Given the description of an element on the screen output the (x, y) to click on. 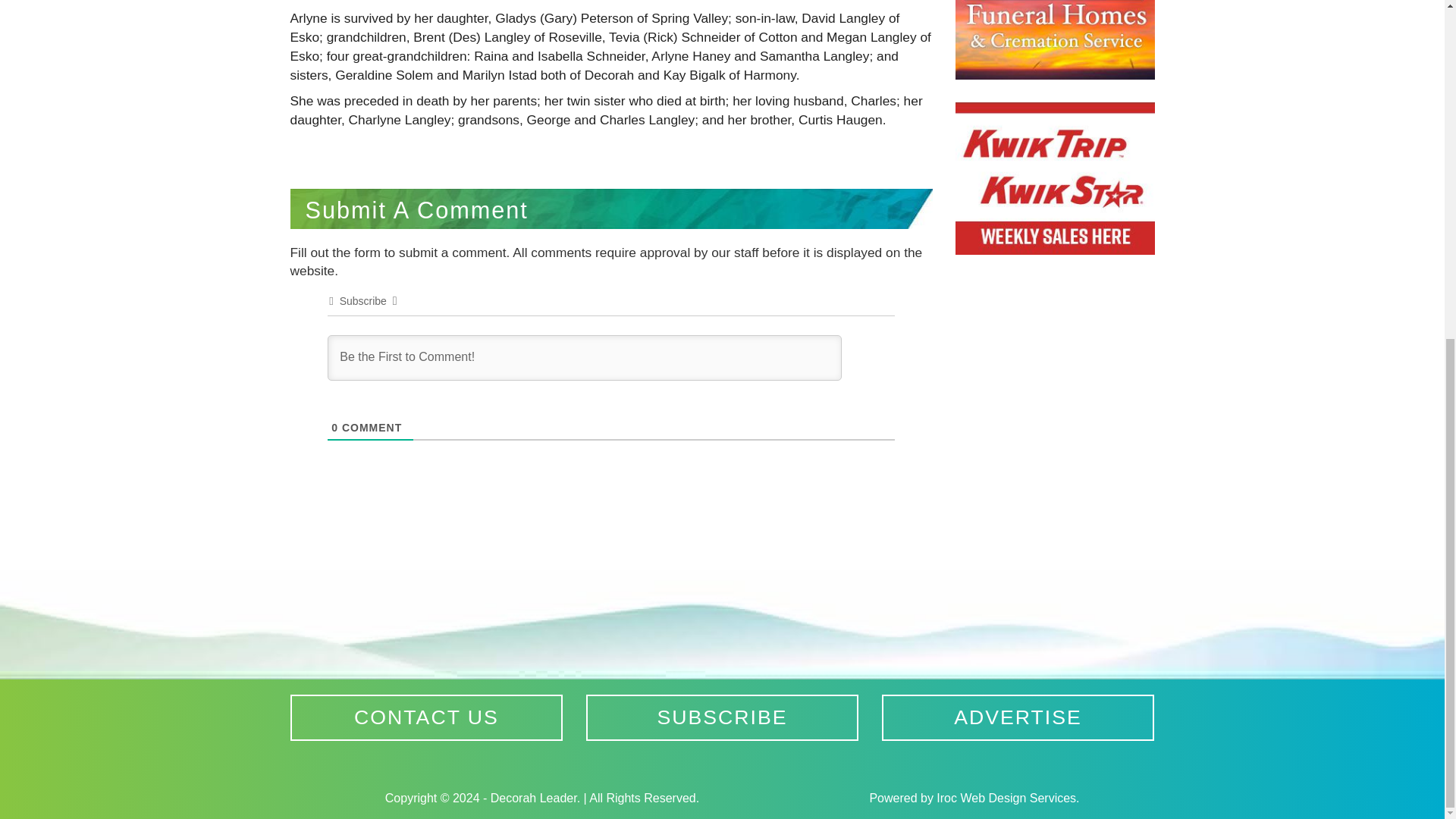
CONTACT US (425, 717)
ADVERTISE (1017, 717)
Iroc Web Design Services (1005, 797)
SUBSCRIBE (722, 717)
Iroc Web Design Services (1005, 797)
